Given the description of an element on the screen output the (x, y) to click on. 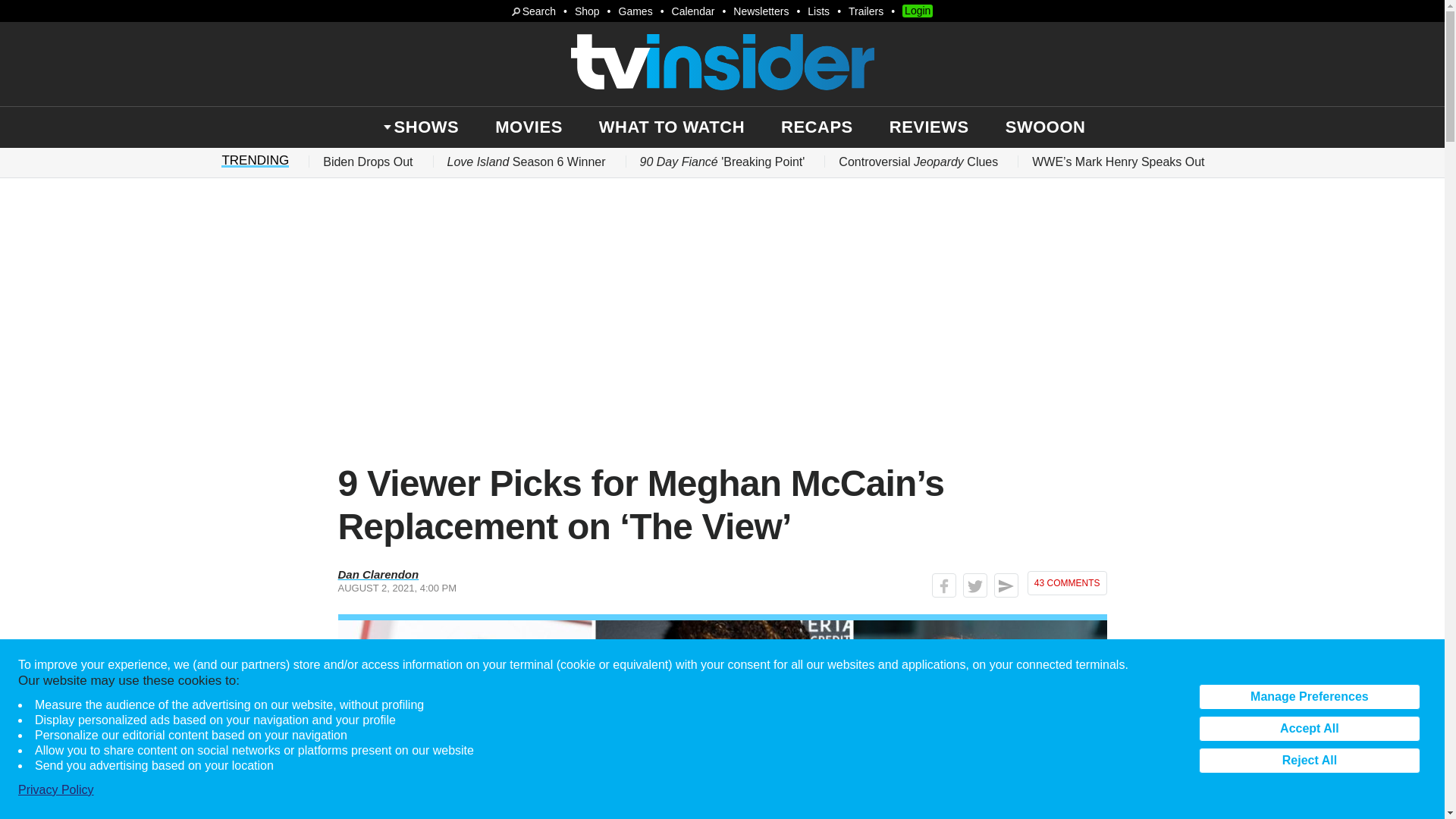
Games (635, 10)
Accept All (1309, 728)
Calendar (692, 10)
Lists (818, 10)
SHOWS (427, 127)
Search (534, 10)
Reject All (1309, 760)
Shop (587, 10)
Trailers (865, 10)
Login (917, 10)
Privacy Policy (55, 789)
Newsletters (761, 10)
Manage Preferences (1309, 696)
